Given the description of an element on the screen output the (x, y) to click on. 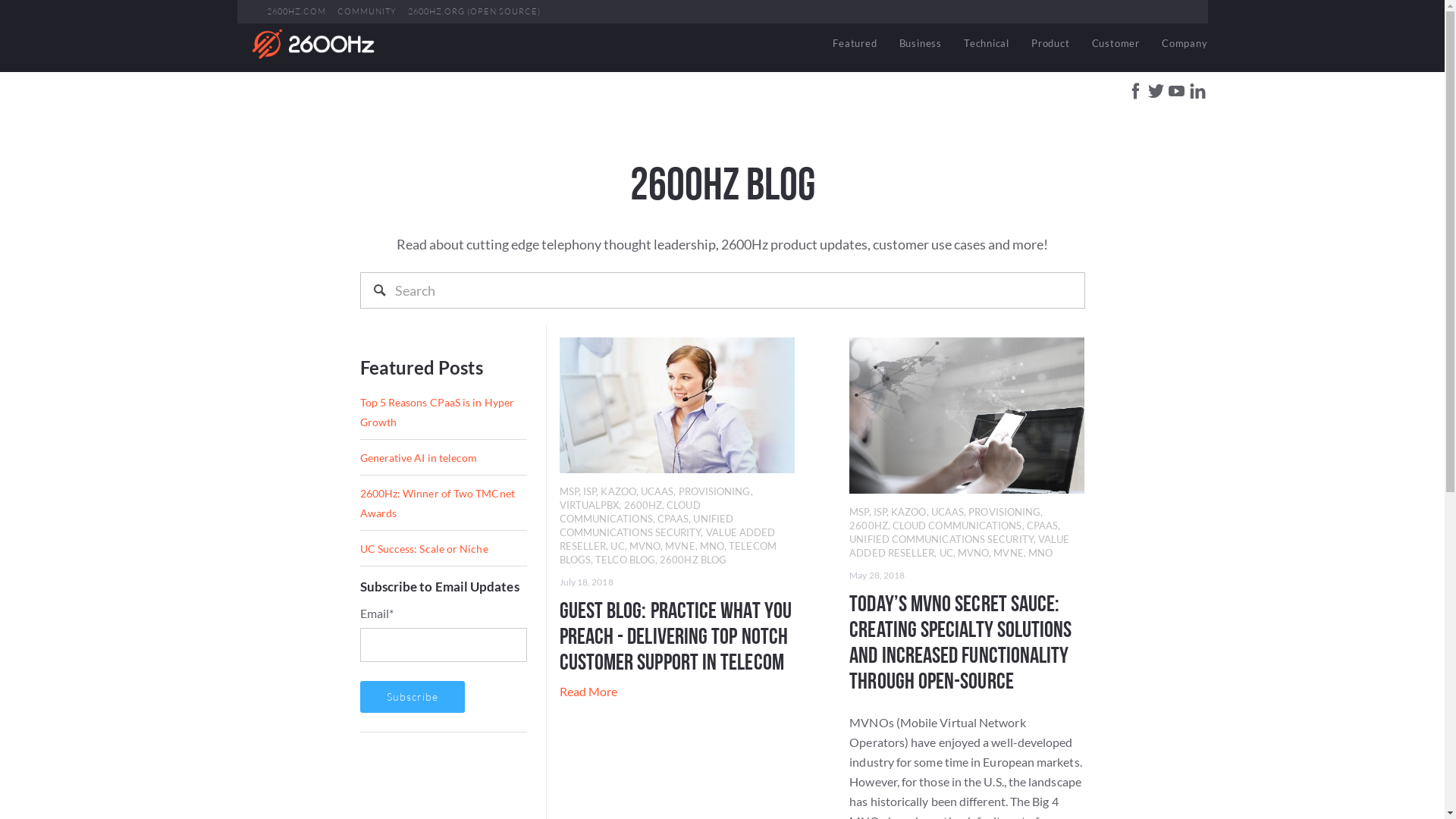
VALUE ADDED RESELLER Element type: text (667, 539)
KAZOO Element type: text (908, 511)
2600HZ.ORG (OPEN SOURCE) Element type: text (473, 11)
CLOUD COMMUNICATIONS Element type: text (957, 525)
2600Hz Blog Element type: hover (312, 44)
MVNO Element type: text (644, 545)
MNO Element type: text (711, 545)
Customer Element type: text (1115, 43)
Technical Element type: text (986, 43)
CPAAS Element type: text (672, 518)
Business Element type: text (920, 43)
CLOUD COMMUNICATIONS Element type: text (629, 511)
VIRTUALPBX Element type: text (589, 504)
PROVISIONING Element type: text (1004, 511)
2600HZ Element type: text (868, 525)
Read More Element type: text (588, 691)
Featured Element type: text (854, 43)
KAZOO Element type: text (617, 491)
MVNE Element type: text (1007, 552)
UNIFIED COMMUNICATIONS SECURITY Element type: text (646, 525)
Subscribe Element type: text (411, 696)
2600HZ.COM Element type: text (296, 11)
Company Element type: text (1179, 43)
ISP Element type: text (879, 511)
TELECOM BLOGS Element type: text (667, 552)
2600Hz: Winner of Two TMCnet Awards Element type: text (436, 502)
UC Element type: text (946, 552)
UC Success: Scale or Niche Element type: text (423, 548)
UC Element type: text (617, 545)
VALUE ADDED RESELLER Element type: text (959, 545)
UNIFIED COMMUNICATIONS SECURITY Element type: text (940, 539)
ISP Element type: text (589, 491)
UCAAS Element type: text (656, 491)
Generative AI in telecom Element type: text (417, 457)
MVNE Element type: text (679, 545)
MVNO Element type: text (972, 552)
MSP Element type: text (858, 511)
CPAAS Element type: text (1041, 525)
UCAAS Element type: text (947, 511)
TELCO BLOG Element type: text (625, 559)
2600HZ Element type: text (643, 504)
Product Element type: text (1050, 43)
MNO Element type: text (1040, 552)
COMMUNITY Element type: text (365, 11)
2600HZ BLOG Element type: text (692, 559)
PROVISIONING Element type: text (714, 491)
Top 5 Reasons CPaaS is in Hyper Growth Element type: text (436, 411)
MSP Element type: text (568, 491)
